Given the description of an element on the screen output the (x, y) to click on. 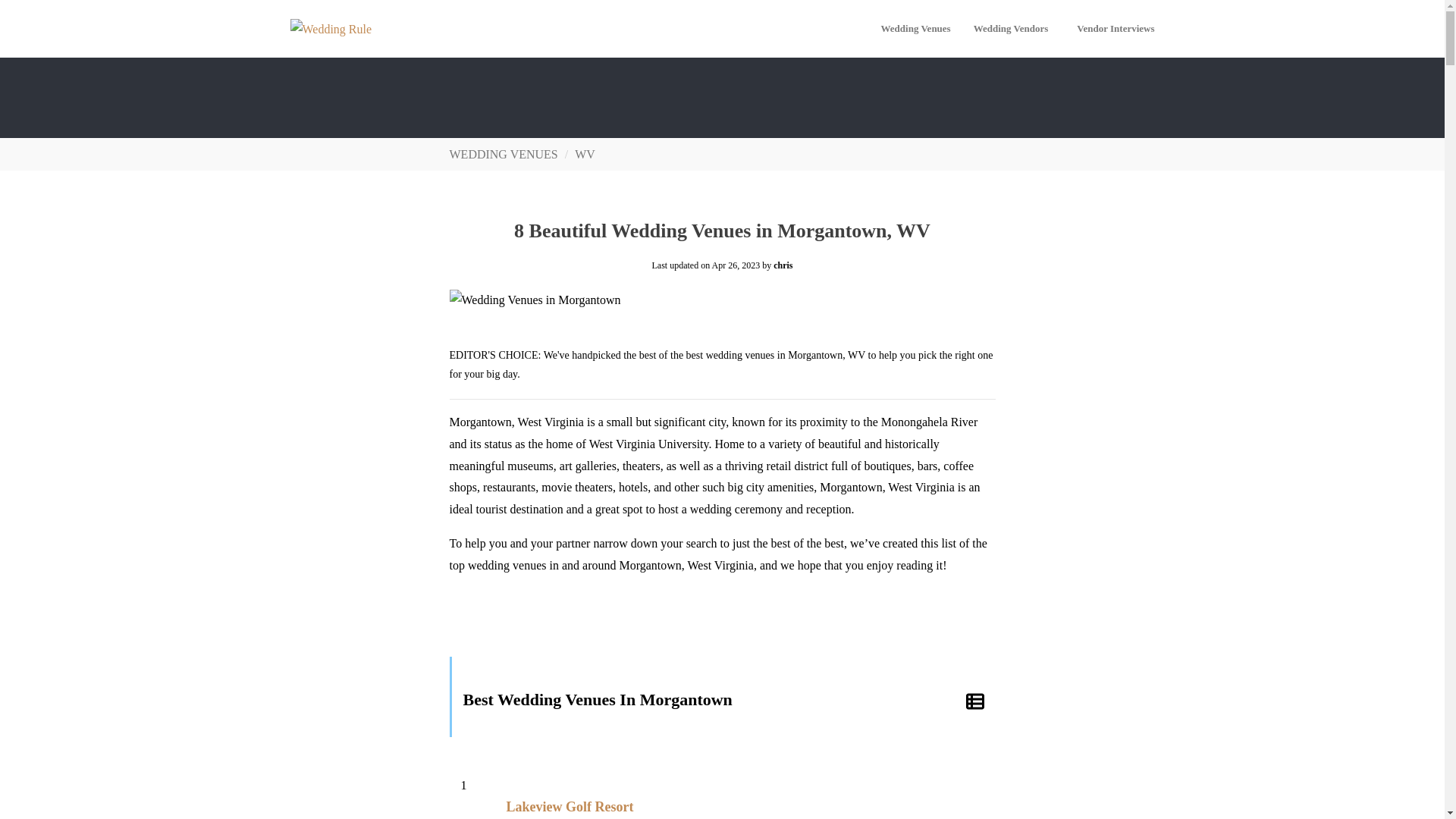
Wedding Rule (330, 29)
Lakeview Golf Resort (569, 806)
WV (585, 154)
WEDDING VENUES (502, 154)
Wedding Venues in Morgantown (534, 299)
chris (782, 265)
Wedding Vendors (1014, 28)
Wedding Venues (915, 28)
Wedding Rule (330, 28)
Vendor Interviews (1115, 28)
